Given the description of an element on the screen output the (x, y) to click on. 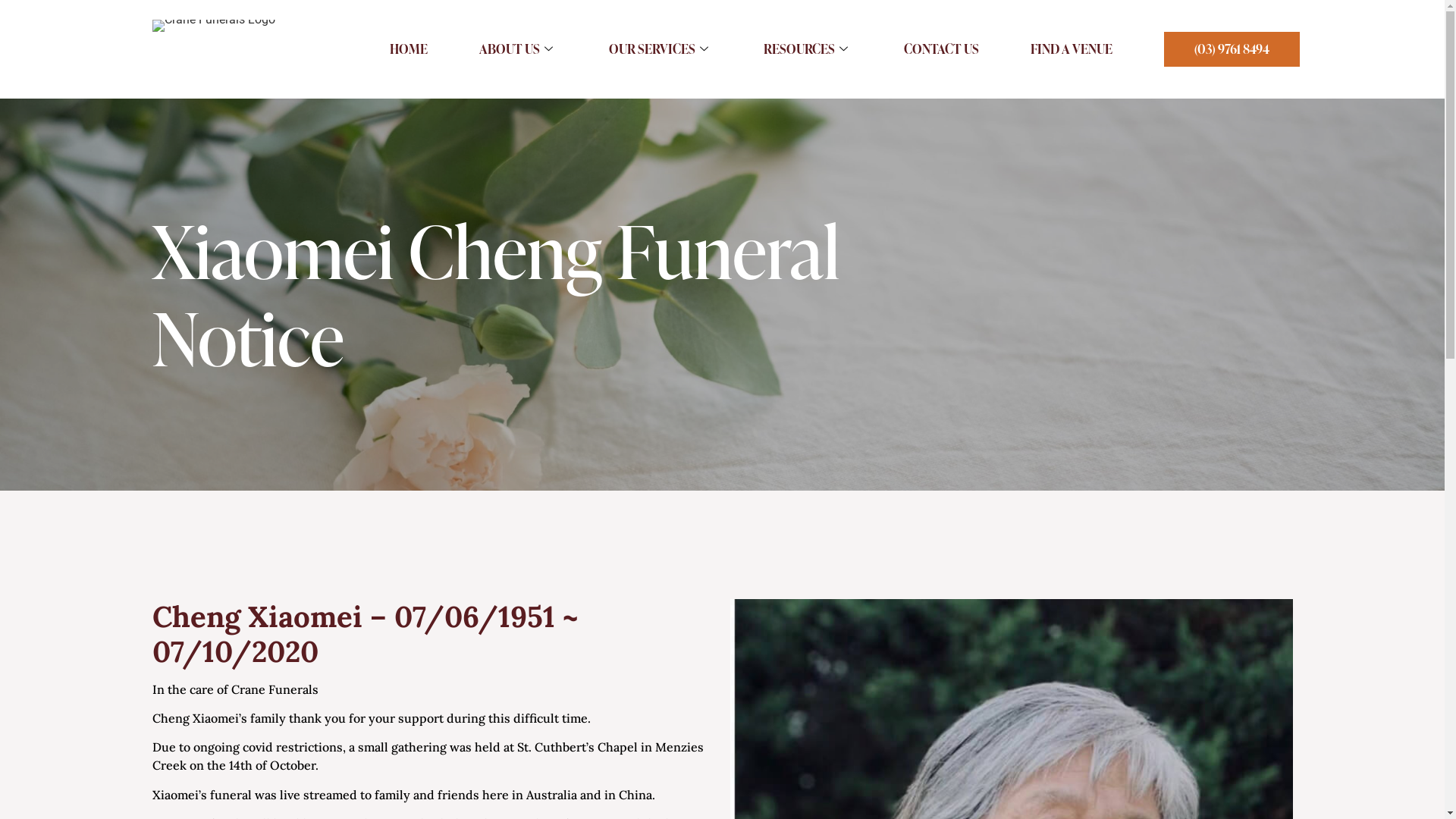
CONTACT US Element type: text (941, 48)
HOME Element type: text (408, 48)
(03) 9761 8494 Element type: text (1231, 48)
OUR SERVICES Element type: text (660, 48)
FIND A VENUE Element type: text (1071, 48)
RESOURCES Element type: text (807, 48)
ABOUT US Element type: text (517, 48)
